Given the description of an element on the screen output the (x, y) to click on. 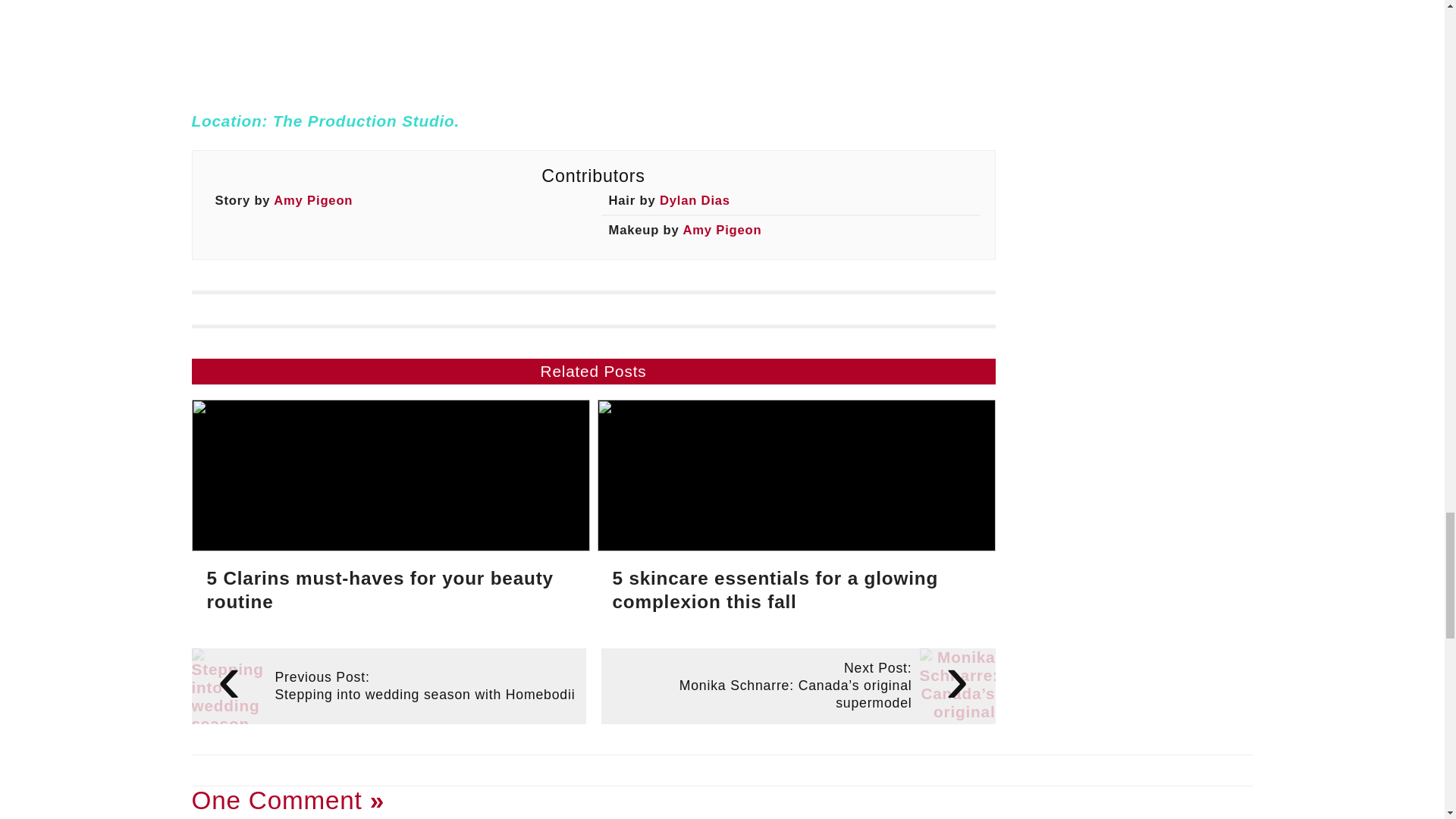
Amy Pigeon (721, 229)
Amy Pigeon (312, 200)
5 Clarins must-haves for your beauty routine (389, 516)
5 Clarins must-haves for your beauty routine (389, 516)
5 skincare essentials for a glowing complexion this fall (795, 516)
Dylan Dias (694, 200)
5 skincare essentials for a glowing complexion this fall (795, 516)
